Given the description of an element on the screen output the (x, y) to click on. 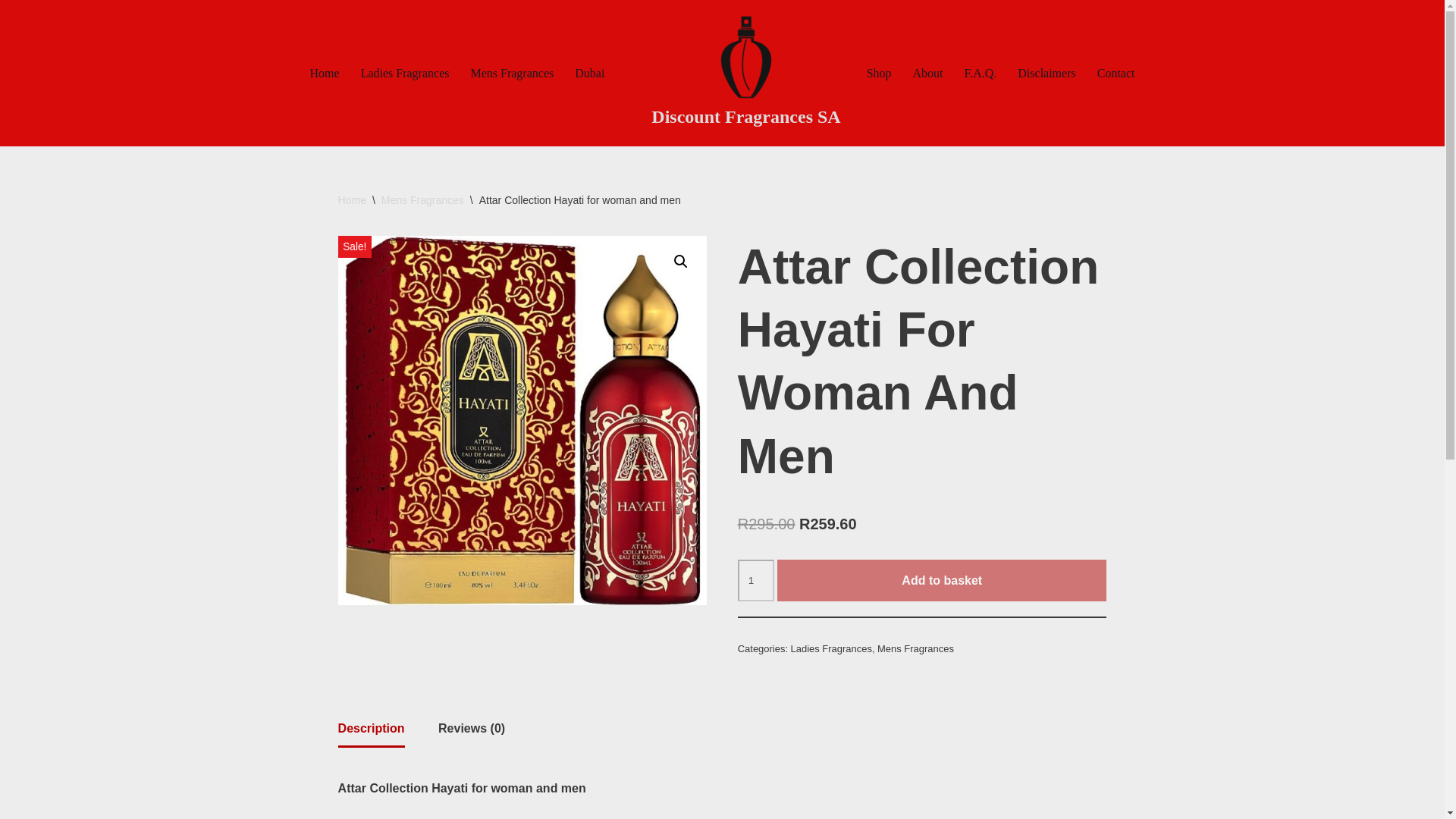
Discount Fragrances SA (745, 72)
Mens Fragrances (915, 648)
Shop (878, 73)
Add to basket (941, 580)
Home (324, 73)
About (927, 73)
Home (351, 200)
Skip to content (11, 31)
Ladies Fragrances (405, 73)
Dubai (589, 73)
Contact (1116, 73)
Mens Fragrances (422, 200)
Disclaimers (1046, 73)
F.A.Q. (980, 73)
Description (370, 727)
